Given the description of an element on the screen output the (x, y) to click on. 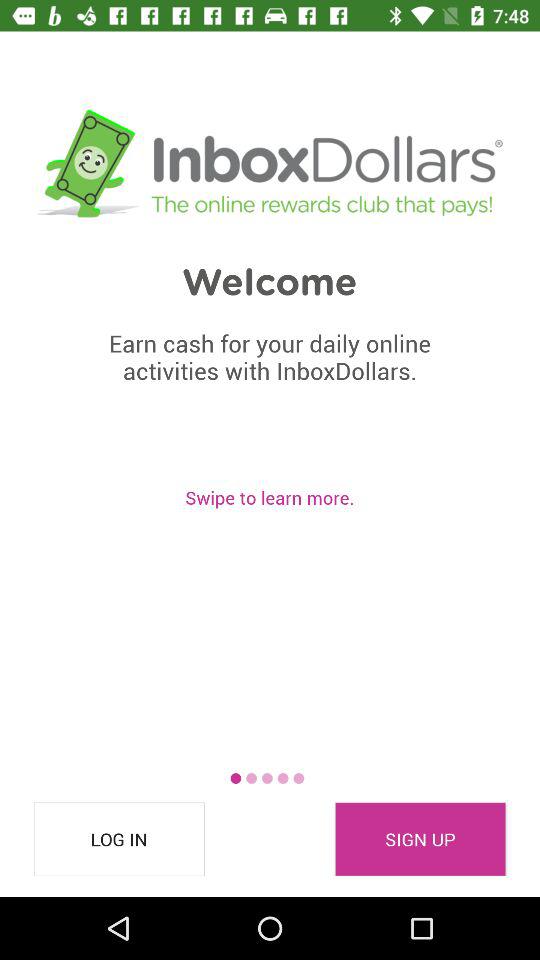
press item to the right of the log in icon (420, 839)
